Given the description of an element on the screen output the (x, y) to click on. 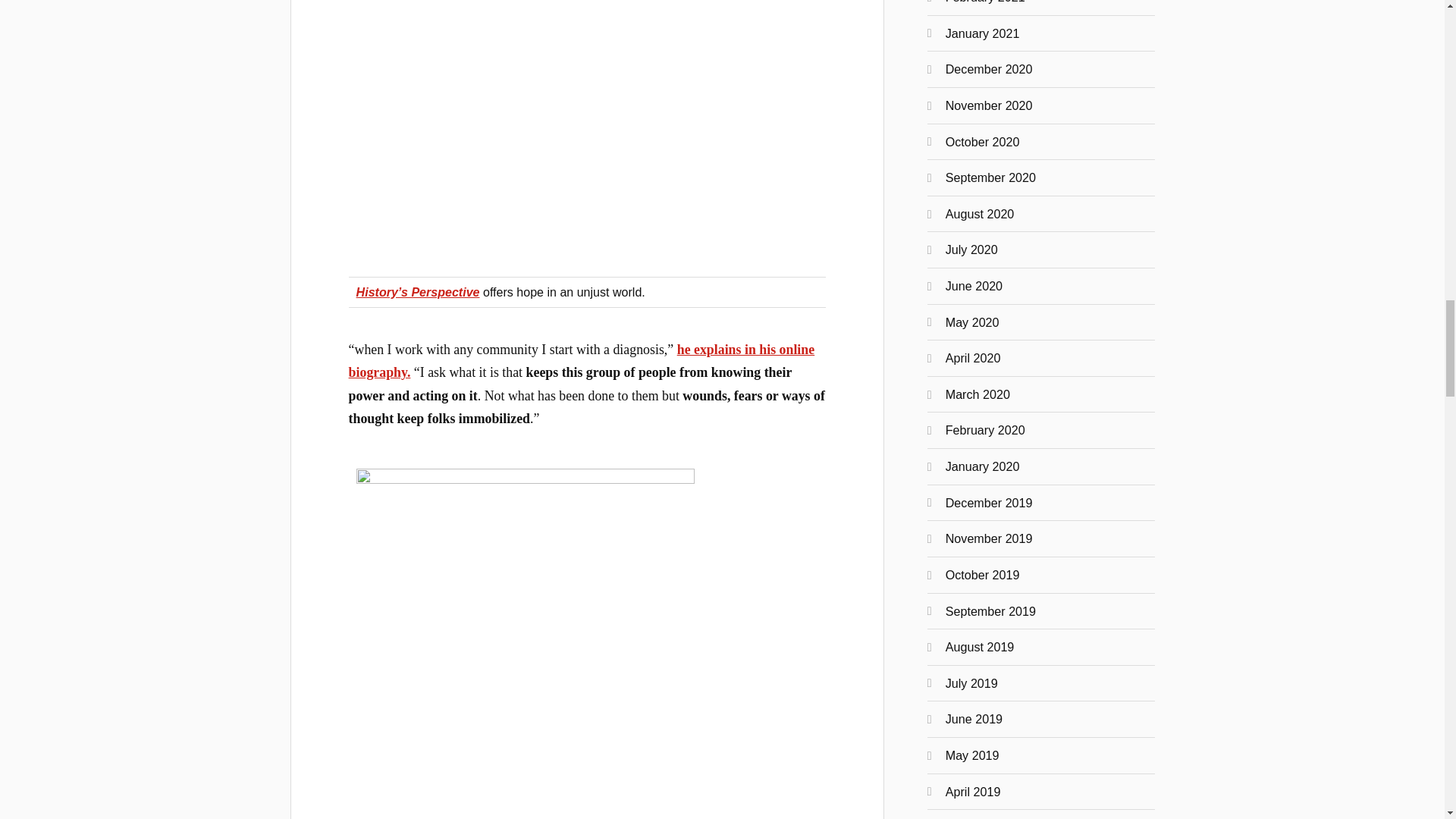
he explains in his online biography. (582, 361)
